Given the description of an element on the screen output the (x, y) to click on. 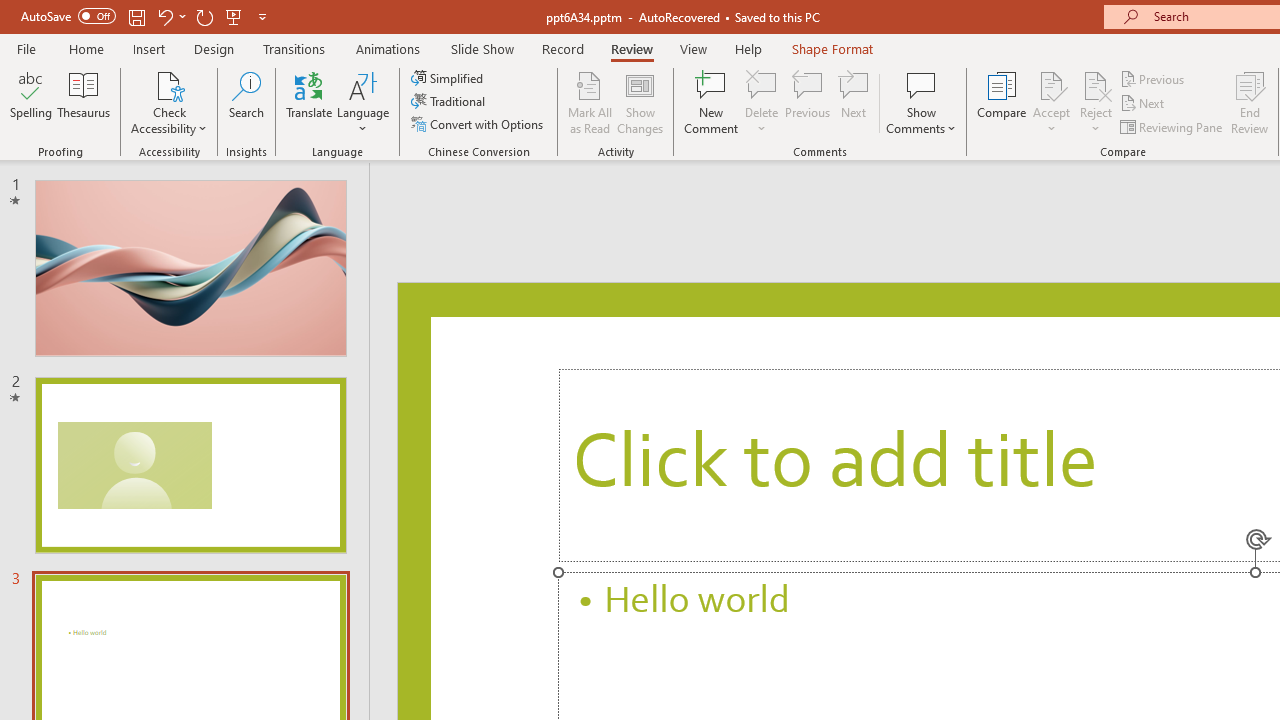
Reject (1096, 102)
Reject Change (1096, 84)
Show Changes (639, 102)
Translate (309, 102)
